Given the description of an element on the screen output the (x, y) to click on. 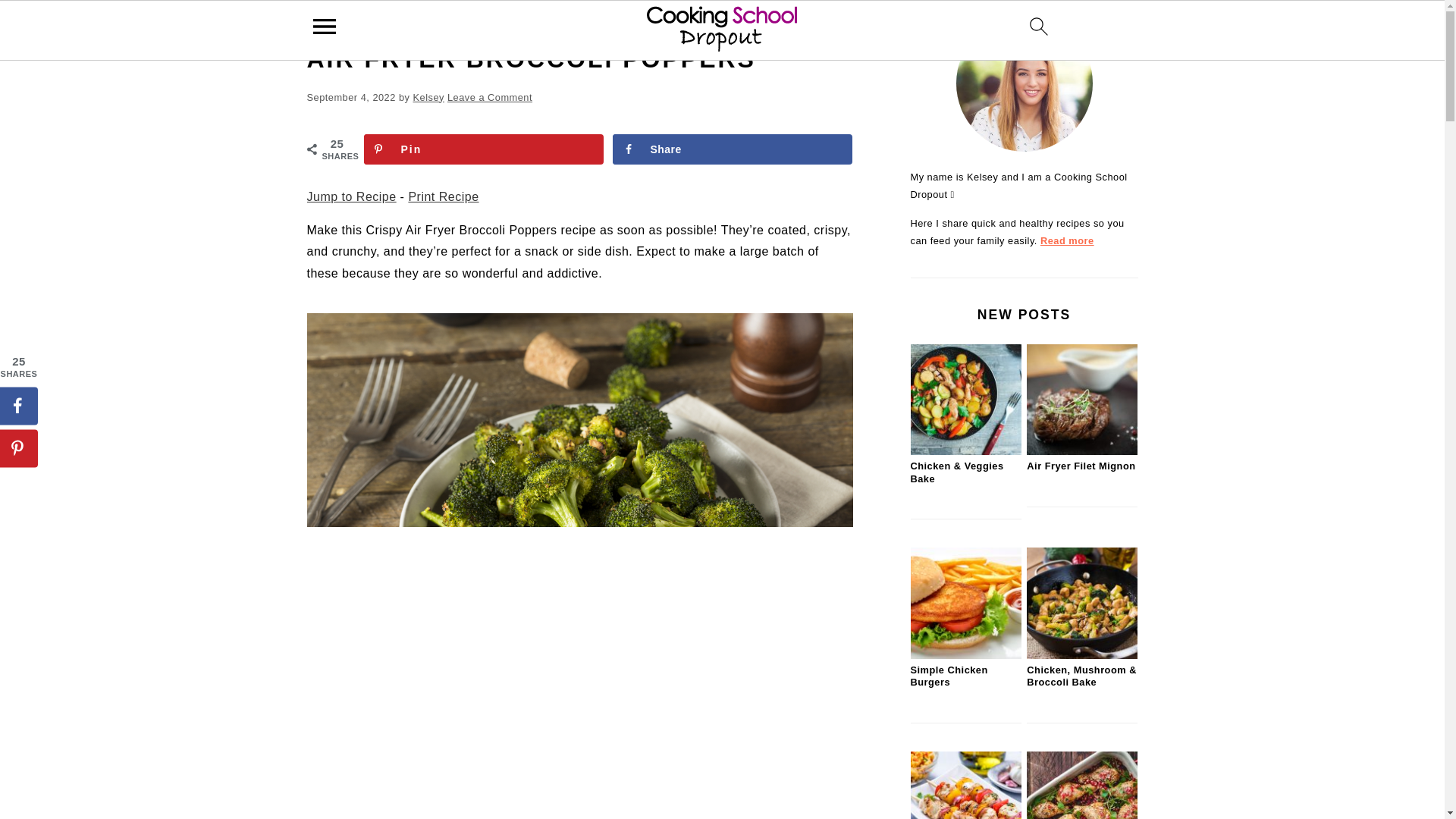
Save to Pinterest (484, 149)
Share on Facebook (18, 405)
search icon (1039, 26)
Simple Chicken Burgers (965, 655)
menu icon (323, 30)
Air Fryer Filet Mignon (1081, 451)
Share on Facebook (731, 149)
Pin (484, 149)
Save to Pinterest (18, 447)
Air Fryer Recipes (386, 23)
Kelsey (428, 97)
Print Recipe (443, 196)
Jump to Recipe (350, 196)
Leave a Comment (489, 97)
search icon (1039, 30)
